Given the description of an element on the screen output the (x, y) to click on. 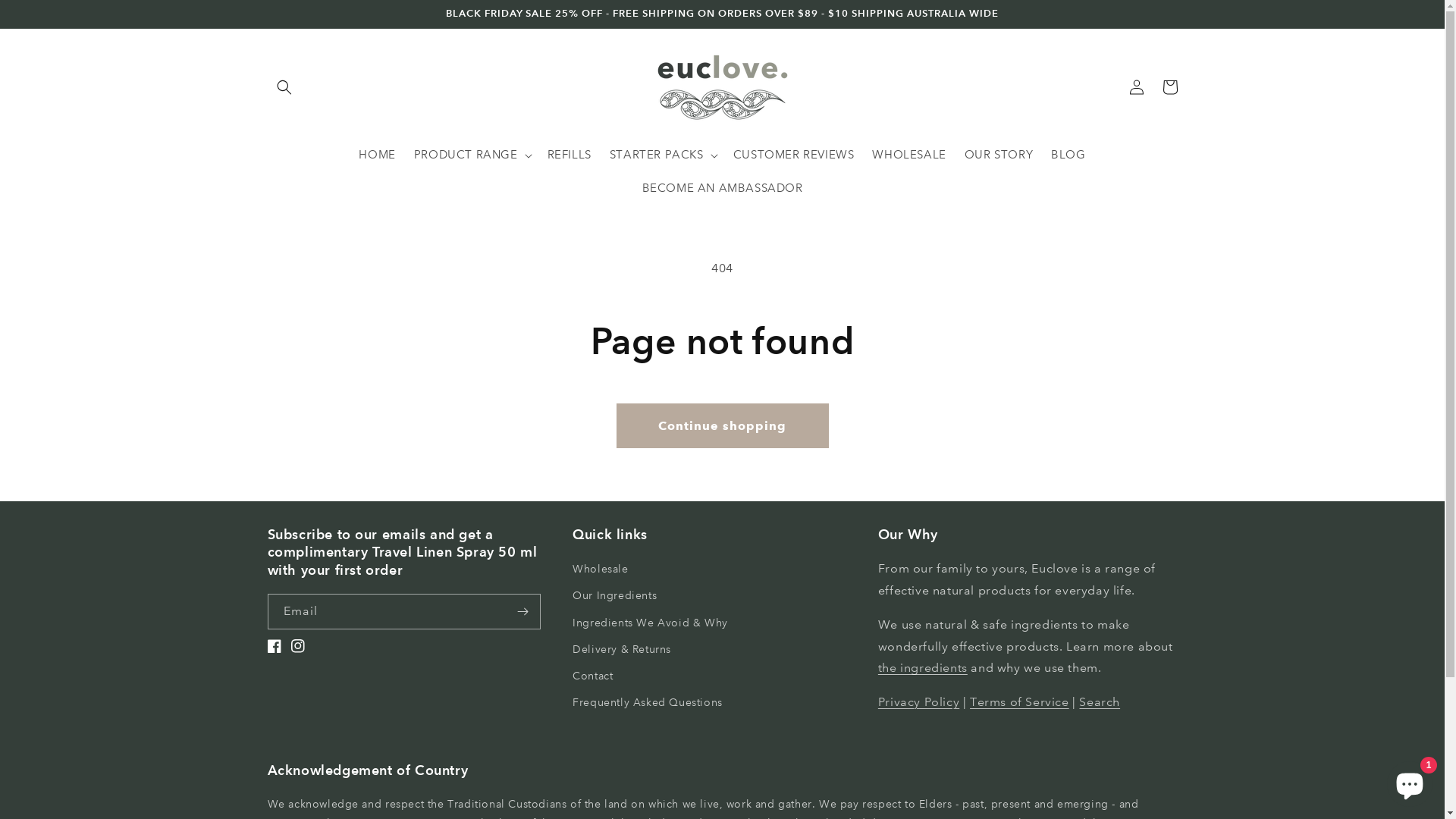
Terms of Service Element type: text (1019, 701)
BECOME AN AMBASSADOR Element type: text (721, 188)
REFILLS Element type: text (569, 155)
Cart Element type: text (1169, 86)
Our Ingredients Element type: text (614, 595)
WHOLESALE Element type: text (908, 155)
Wholesale Element type: text (599, 570)
Log in Element type: text (1135, 86)
the ingredients Element type: text (922, 667)
CUSTOMER REVIEWS Element type: text (793, 155)
Instagram Element type: text (302, 645)
Contact Element type: text (592, 675)
HOME Element type: text (376, 155)
Continue shopping Element type: text (721, 425)
Ingredients We Avoid & Why Element type: text (650, 622)
Shopify online store chat Element type: hover (1409, 780)
Privacy Policy Element type: text (918, 701)
Facebook Element type: text (278, 645)
BLOG Element type: text (1067, 155)
OUR STORY Element type: text (998, 155)
Delivery & Returns Element type: text (621, 649)
Frequently Asked Questions Element type: text (647, 702)
Search Element type: text (1099, 701)
